Given the description of an element on the screen output the (x, y) to click on. 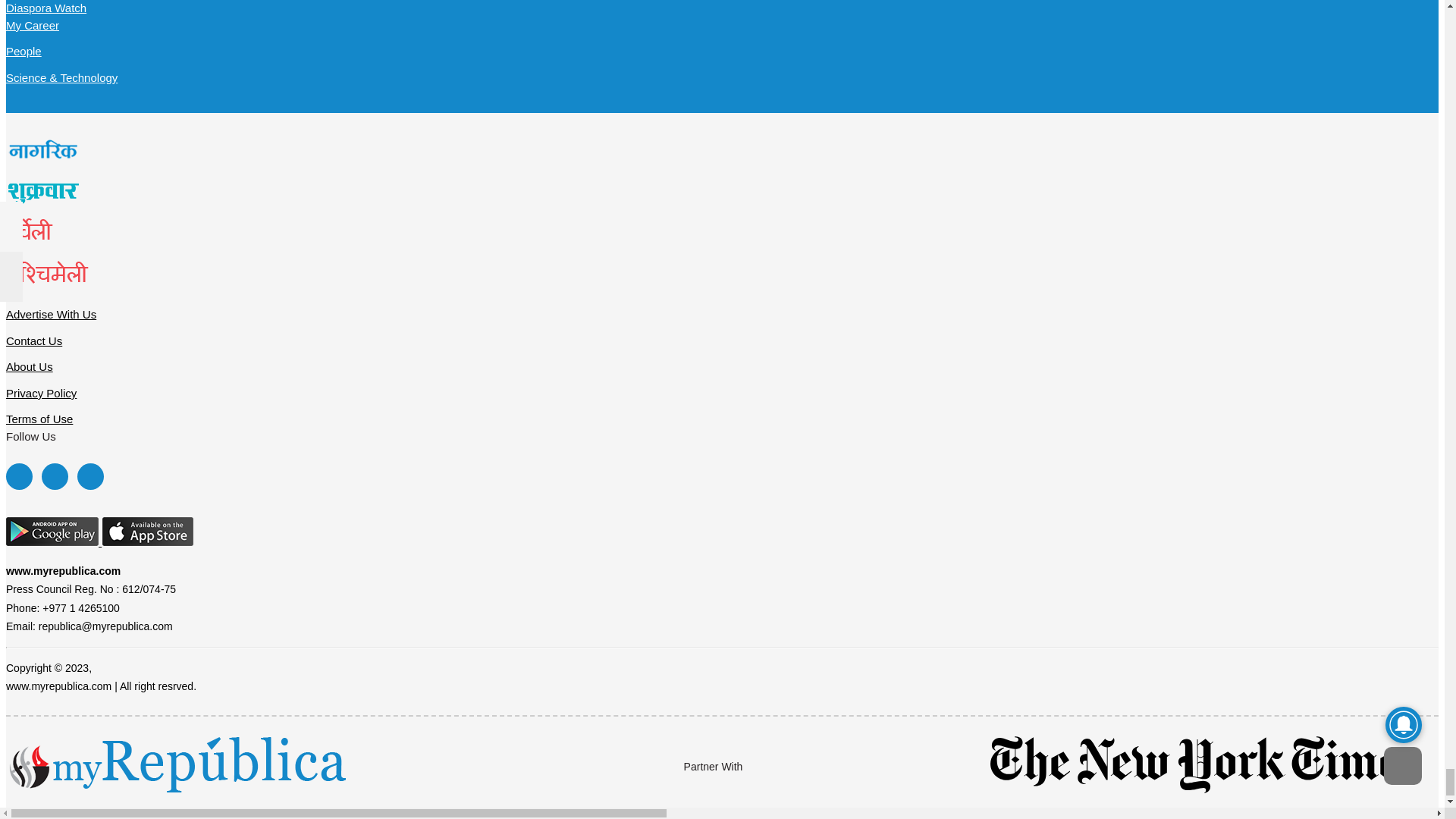
Youtube (90, 476)
Facebook (18, 476)
Twitter (55, 476)
